Given the description of an element on the screen output the (x, y) to click on. 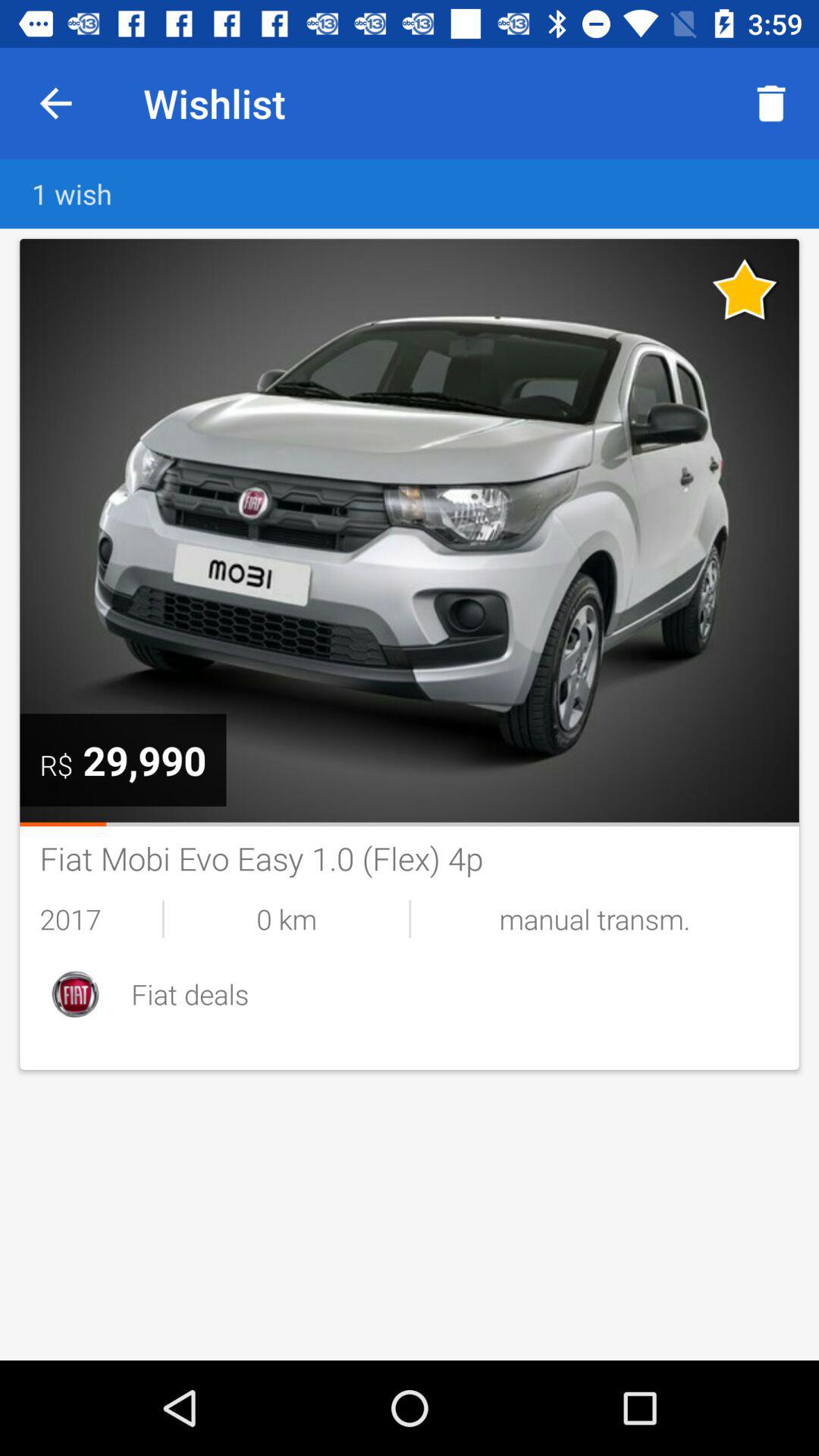
turn off the item below the 1 wish icon (745, 288)
